Given the description of an element on the screen output the (x, y) to click on. 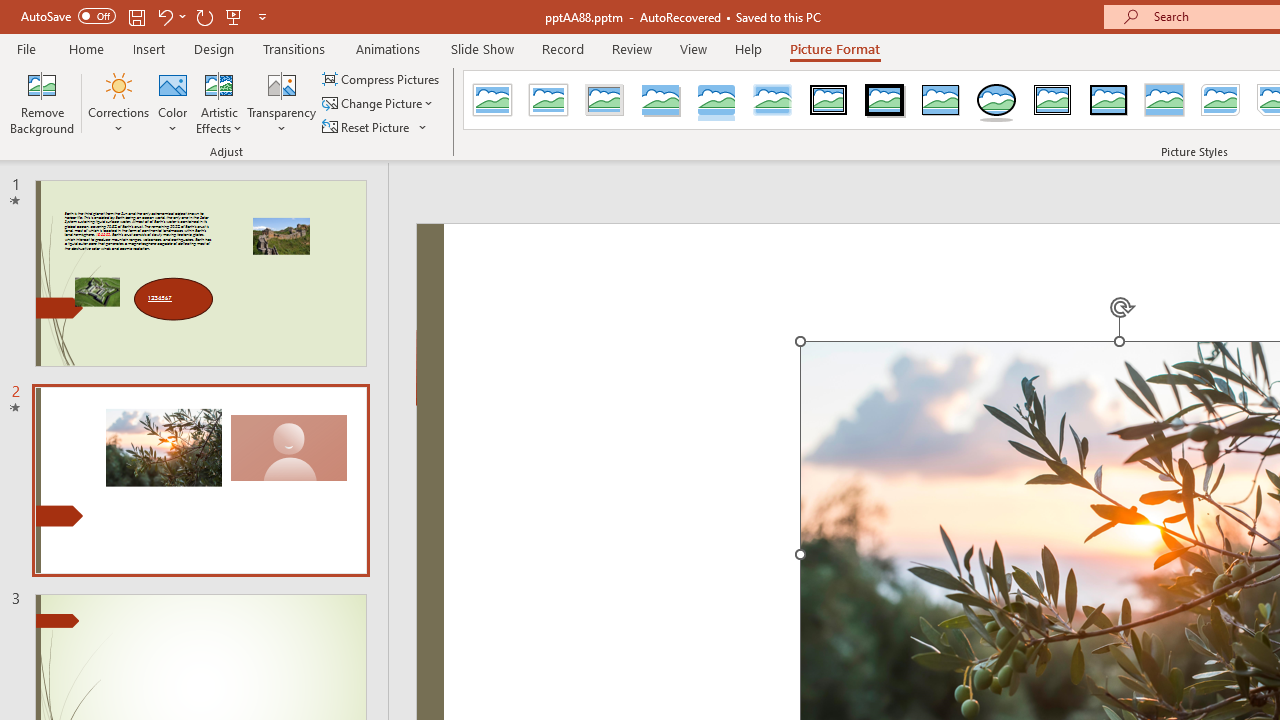
Rounded Diagonal Corner, White (1220, 100)
Corrections (118, 102)
